Given the description of an element on the screen output the (x, y) to click on. 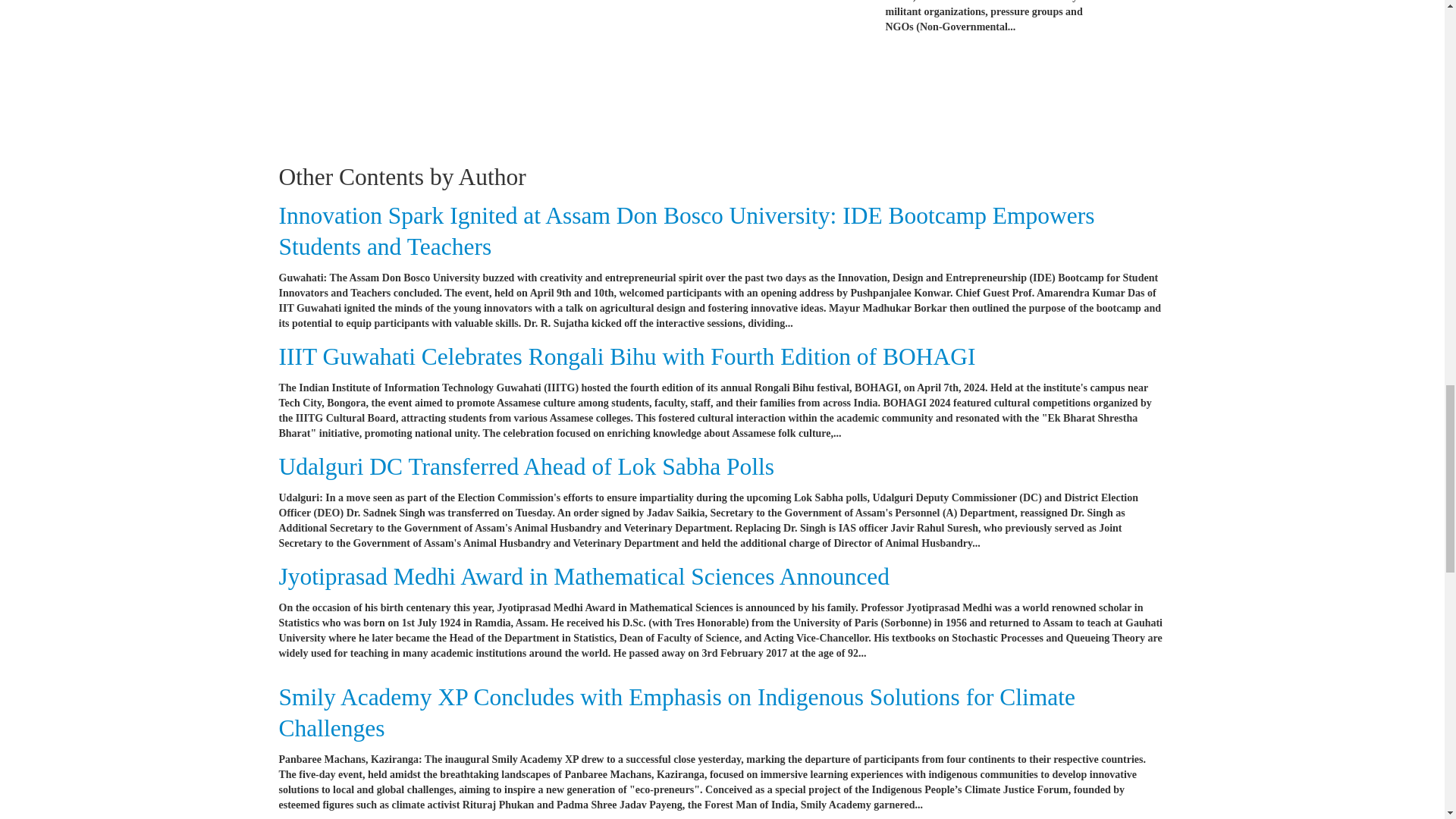
Jyotiprasad Medhi Award in Mathematical Sciences Announced (584, 576)
Udalguri DC Transferred Ahead of Lok Sabha Polls (526, 466)
